Given the description of an element on the screen output the (x, y) to click on. 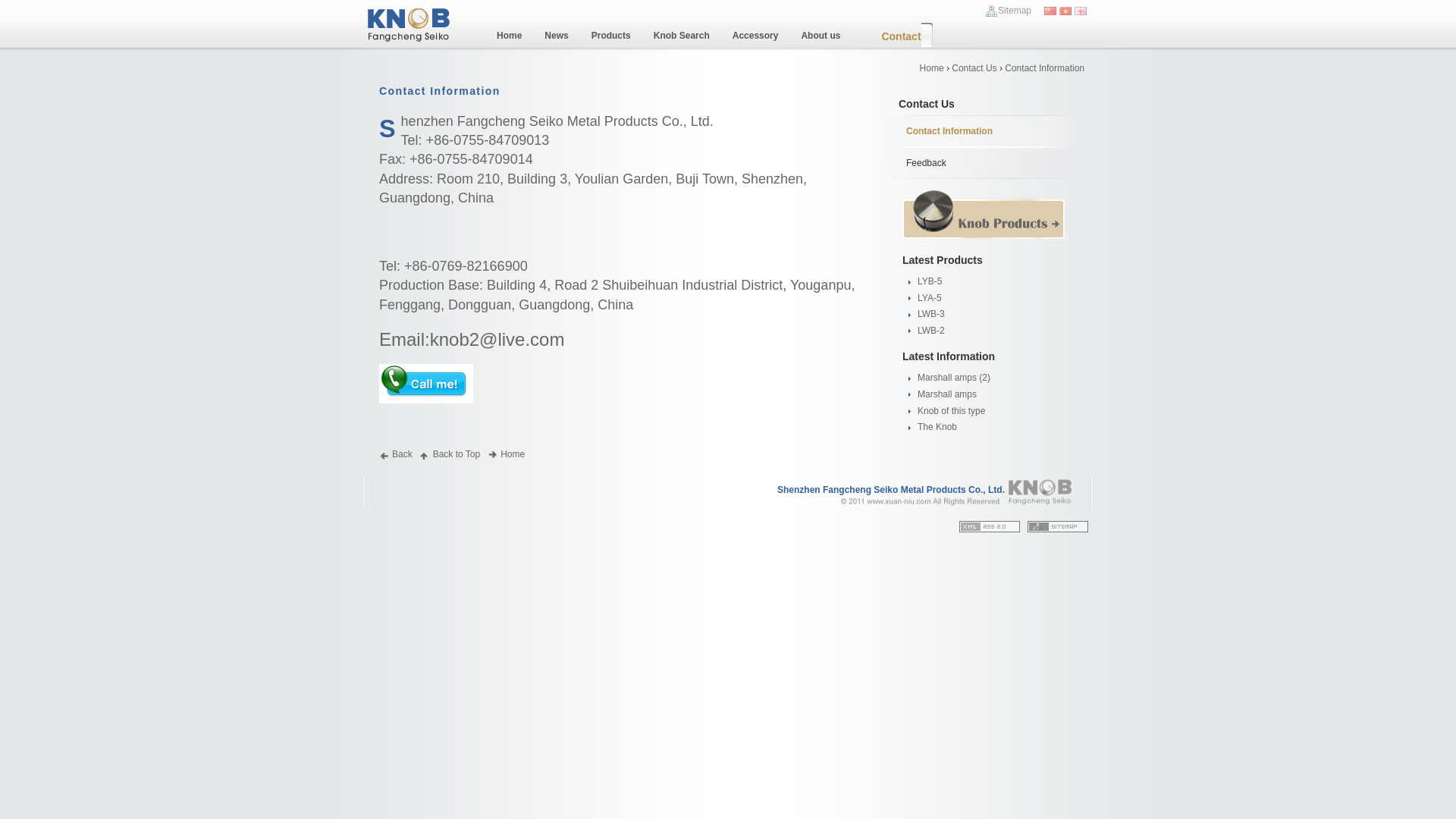
About us Element type: text (820, 31)
Accessory Element type: text (755, 31)
Contact Information Element type: text (439, 90)
Contact Us Element type: text (926, 103)
Contact Element type: text (896, 38)
LYB-5 Element type: text (929, 281)
Rss Element type: hover (989, 526)
Feedback Element type: text (926, 162)
Home Element type: text (931, 67)
English Element type: text (1080, 10)
Contact Information Element type: text (949, 130)
News Element type: text (555, 31)
Marshall amps Element type: text (946, 394)
Contact Information Element type: text (1044, 67)
Traditional Chinese (BIG5) Element type: text (1065, 10)
LWB-2 Element type: text (930, 330)
Shenzhen Fangcheng Seiko Metal Products Co., Ltd. Element type: text (890, 489)
Home Element type: text (508, 31)
Home Element type: text (505, 453)
Products Element type: text (610, 31)
Back Element type: text (395, 453)
Product Element type: hover (982, 214)
Sitemap Element type: hover (1057, 526)
The Knob Element type: text (937, 426)
LYA-5 Element type: text (929, 297)
Back to Top Element type: text (450, 453)
Contact Us Element type: text (973, 67)
Knob of this type Element type: text (951, 410)
Sitemap Element type: text (1008, 9)
knob2@live.com Element type: text (496, 341)
knob Element type: hover (409, 23)
Knob Search Element type: text (681, 31)
Marshall amps (2) Element type: text (953, 377)
LWB-3 Element type: text (930, 313)
Simplified Chinese (GB2312) Element type: text (1050, 10)
